Given the description of an element on the screen output the (x, y) to click on. 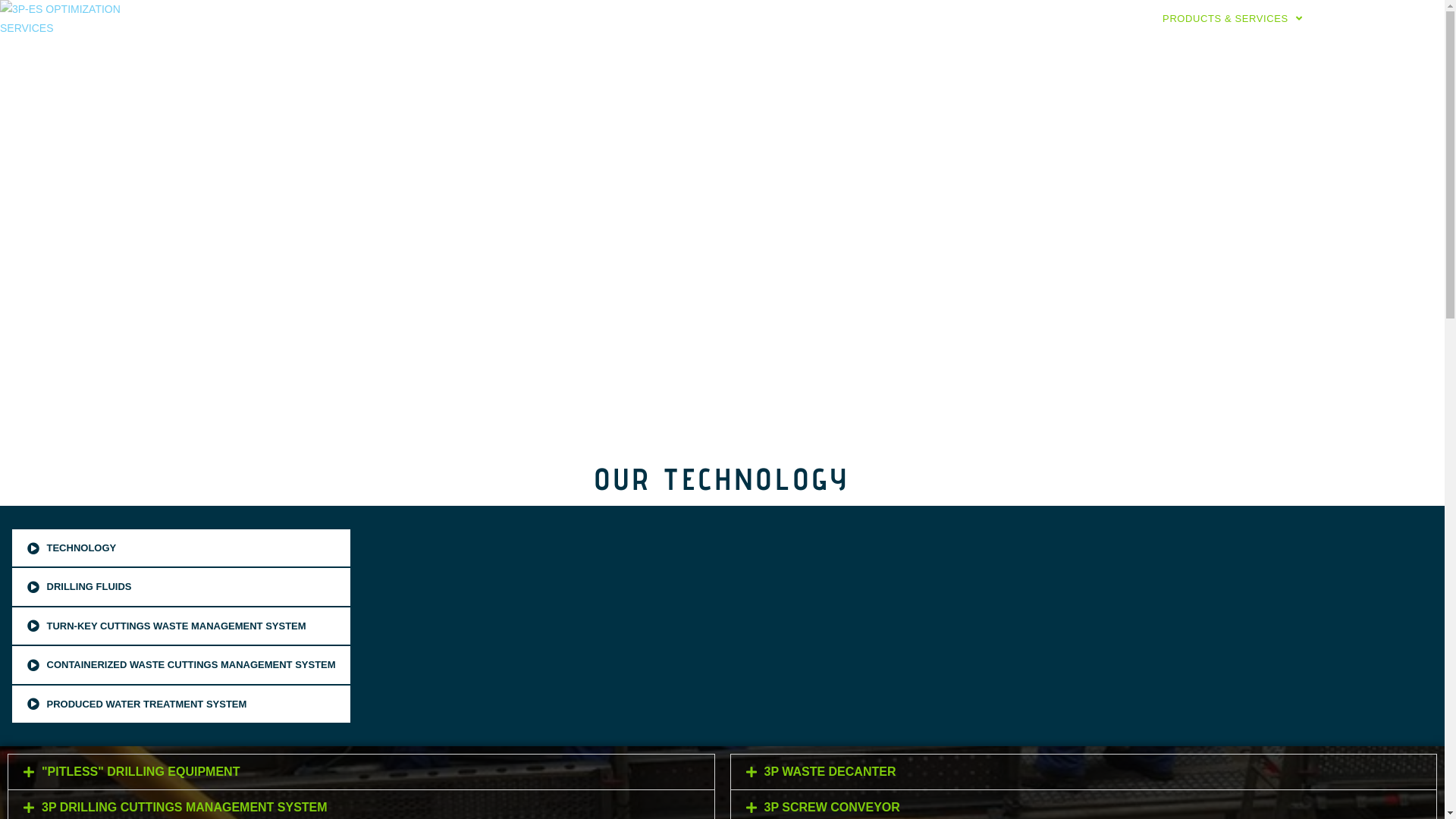
3P SCREW CONVEYOR Element type: text (832, 806)
HOME Element type: text (1017, 18)
"PITLESS" DRILLING EQUIPMENT Element type: text (140, 771)
PRODUCTS & SERVICES Element type: text (1232, 18)
CONTACT US Element type: text (1366, 18)
3P WASTE DECANTER Element type: text (830, 771)
ABOUT US Element type: text (1097, 18)
3P DRILLING CUTTINGS MANAGEMENT SYSTEM Element type: text (184, 806)
